Given the description of an element on the screen output the (x, y) to click on. 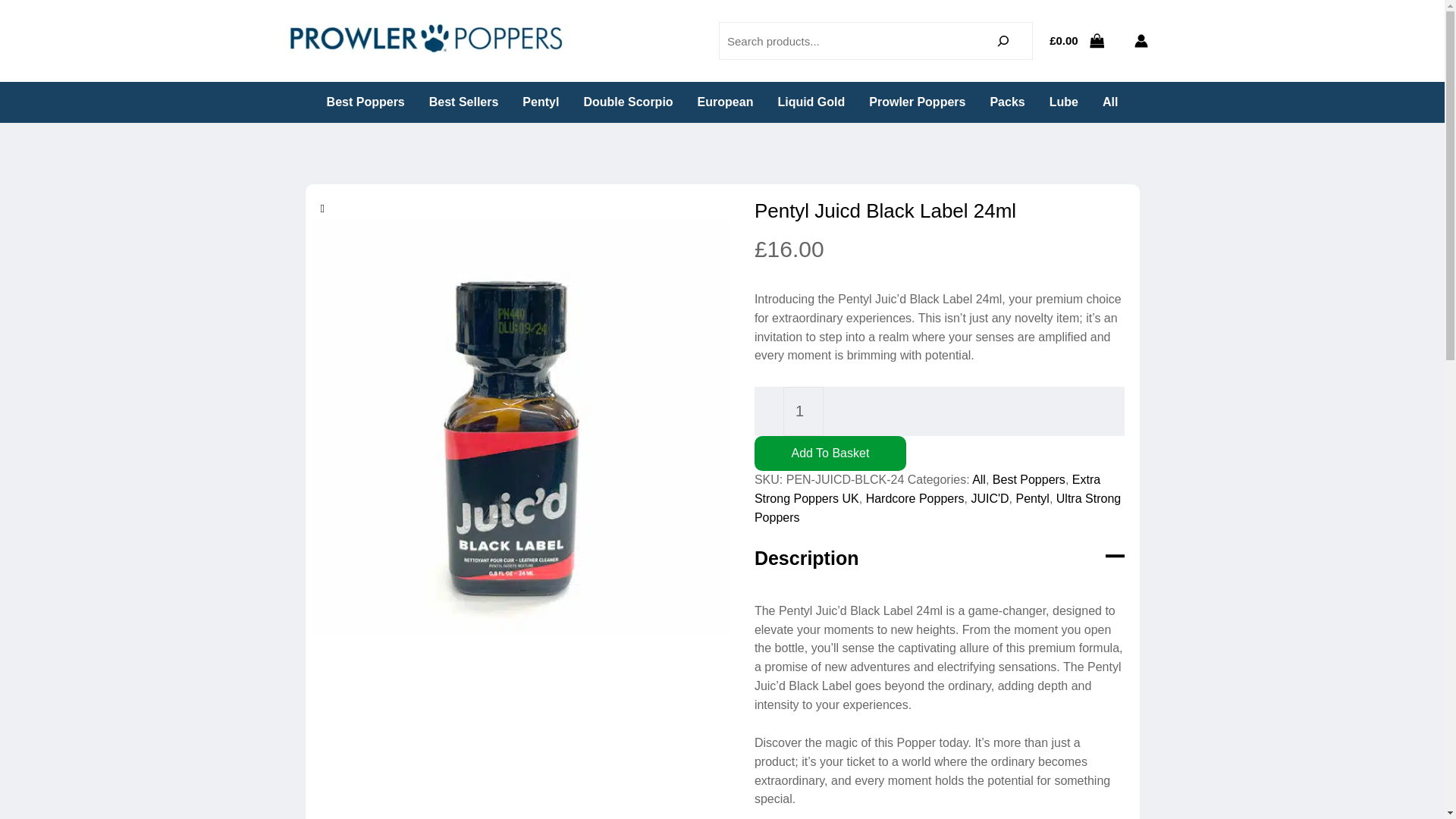
Pentyl (540, 101)
Lube (1063, 101)
Liquid Gold (811, 101)
Packs (1006, 101)
Prowler Poppers (916, 101)
Pentyl Juicd Black Label 24ml All Prowler Poppers (425, 40)
European (725, 101)
Best Poppers (365, 101)
Double Scorpio (627, 101)
Best Sellers (463, 101)
